Given the description of an element on the screen output the (x, y) to click on. 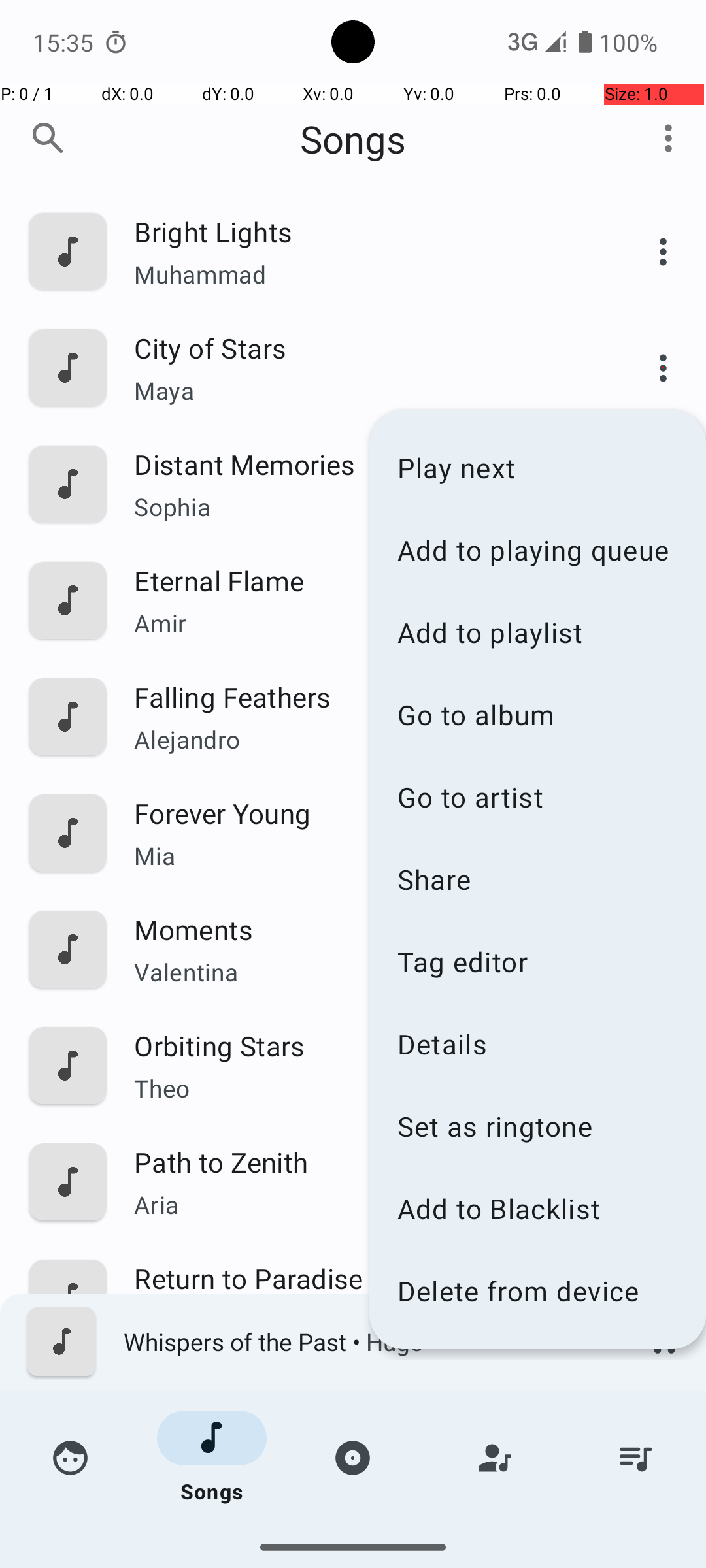
Play next Element type: android.widget.TextView (537, 467)
Add to playing queue Element type: android.widget.TextView (537, 549)
Add to playlist Element type: android.widget.TextView (537, 631)
Go to album Element type: android.widget.TextView (537, 714)
Go to artist Element type: android.widget.TextView (537, 796)
Tag editor Element type: android.widget.TextView (537, 961)
Details Element type: android.widget.TextView (537, 1043)
Set as ringtone Element type: android.widget.TextView (537, 1125)
Add to Blacklist Element type: android.widget.TextView (537, 1207)
Delete from device Element type: android.widget.TextView (537, 1290)
